Given the description of an element on the screen output the (x, y) to click on. 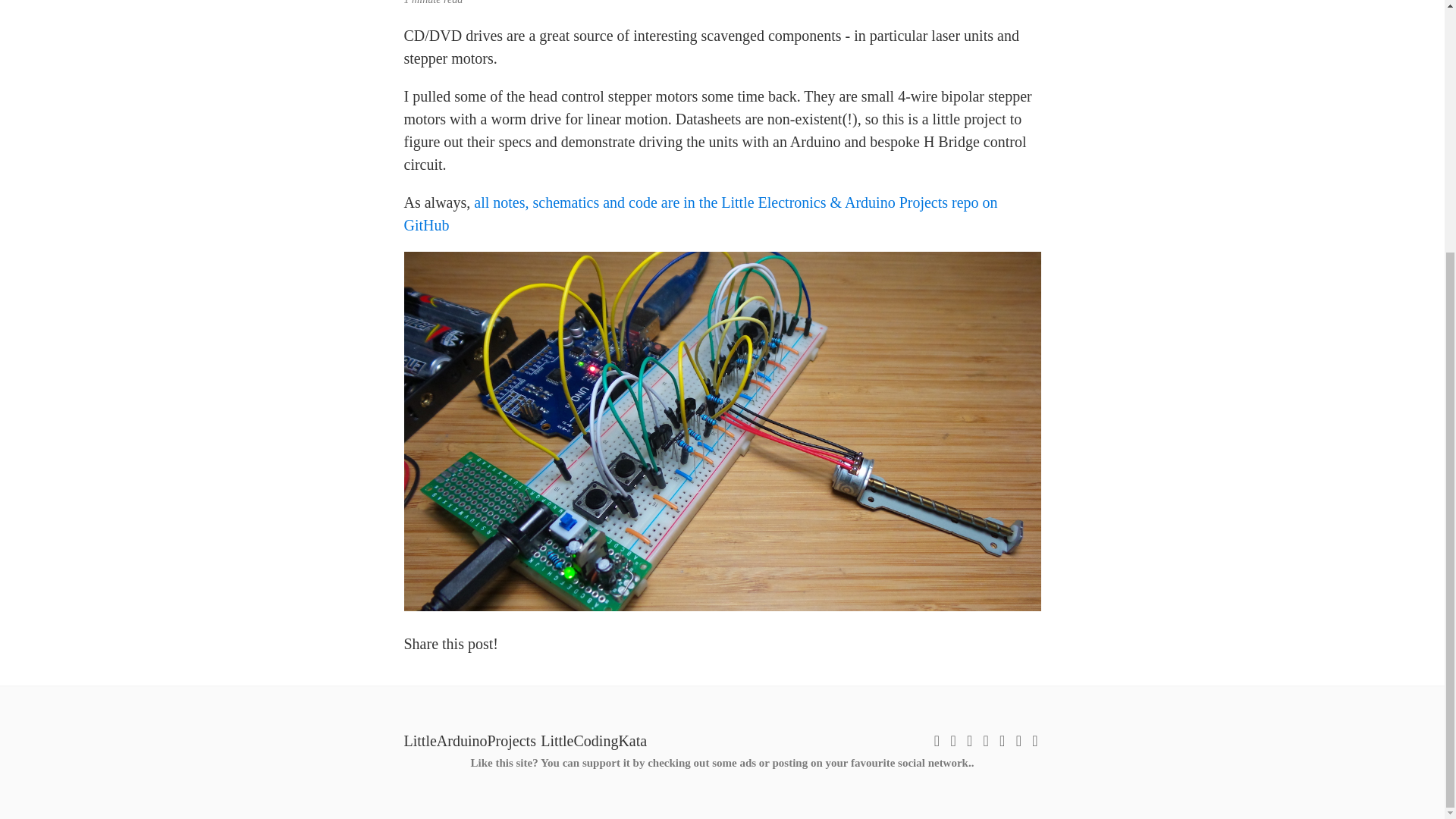
LittleArduinoProjects (469, 738)
LittleCodingKata (593, 738)
